Given the description of an element on the screen output the (x, y) to click on. 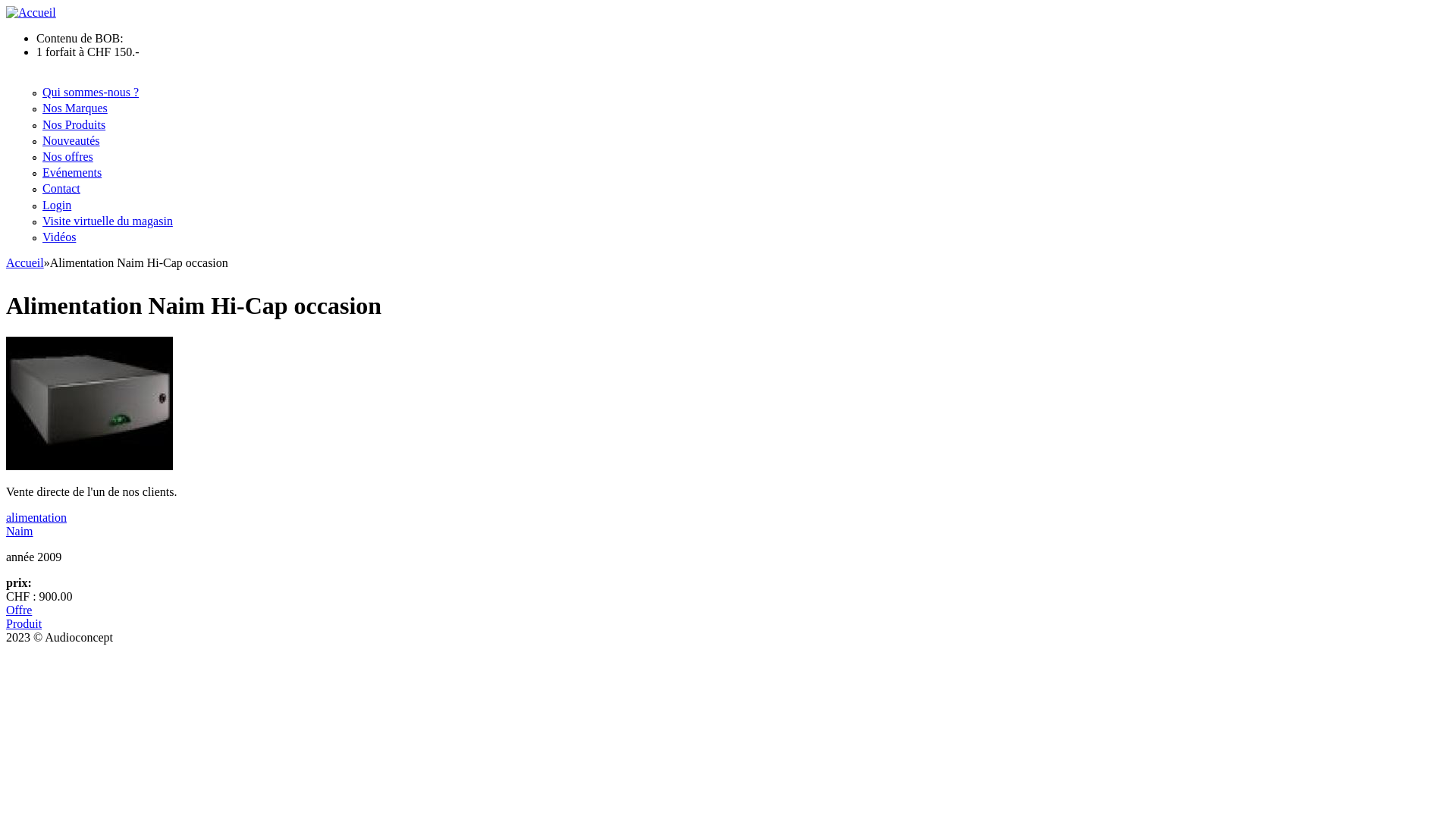
Qui sommes-nous ? Element type: text (90, 91)
Nos Marques Element type: text (74, 107)
Visite virtuelle du magasin Element type: text (107, 220)
Accueil Element type: hover (31, 12)
Accueil Element type: text (24, 262)
Produit Element type: text (23, 623)
Nos Produits Element type: text (73, 124)
Contact Element type: text (61, 188)
Naim Element type: text (19, 530)
Offre Element type: text (18, 609)
alimentation Element type: text (36, 517)
Login Element type: text (56, 204)
Nos offres Element type: text (67, 156)
